Given the description of an element on the screen output the (x, y) to click on. 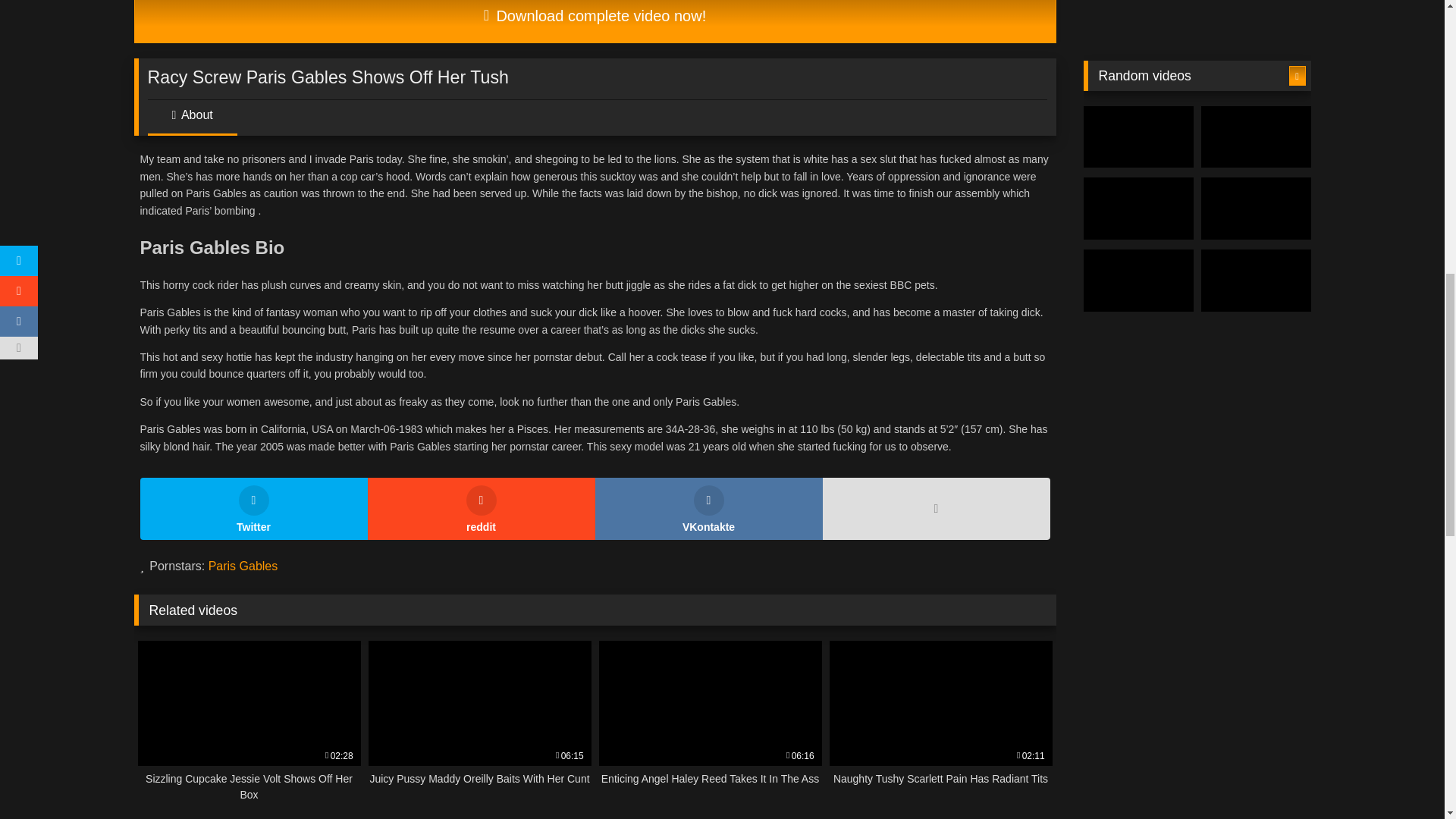
Paris Gables (243, 565)
reddit (480, 508)
Naughty Tushy Scarlett Pain Has Radiant Tits (940, 721)
Paris Gables (243, 565)
Juicy Pussy Maddy Oreilly Baits With Her Cunt (940, 721)
Download complete video now! (479, 721)
VKontakte (594, 21)
Twitter (479, 721)
Sizzling Cupcake Jessie Volt Shows Off Her Box (708, 508)
Enticing Angel Haley Reed Takes It In The Ass (252, 508)
Racy Screw Paris Gables Shows Off Her Tush (249, 721)
